Given the description of an element on the screen output the (x, y) to click on. 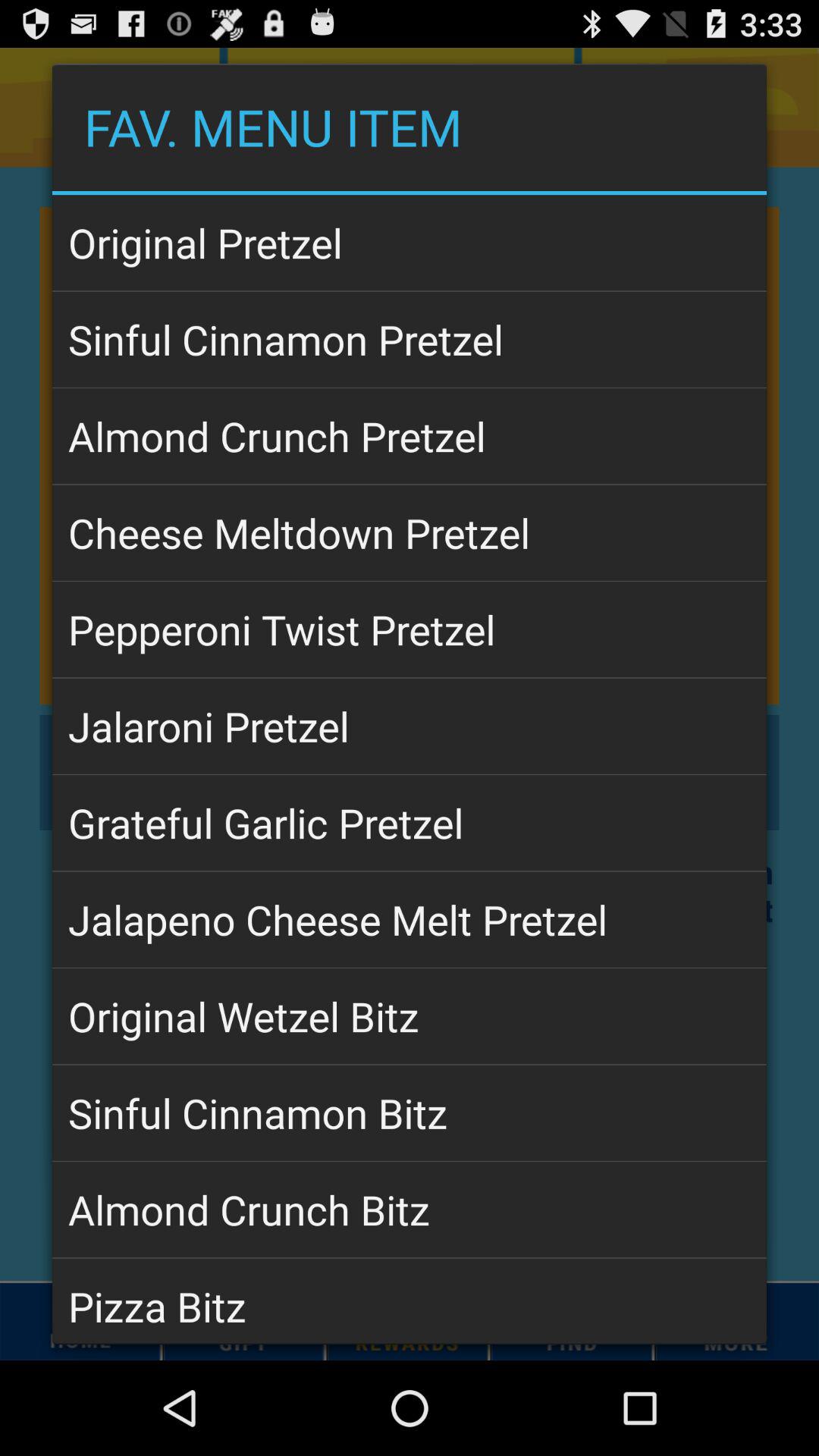
jump until the original wetzel bitz icon (409, 1016)
